Given the description of an element on the screen output the (x, y) to click on. 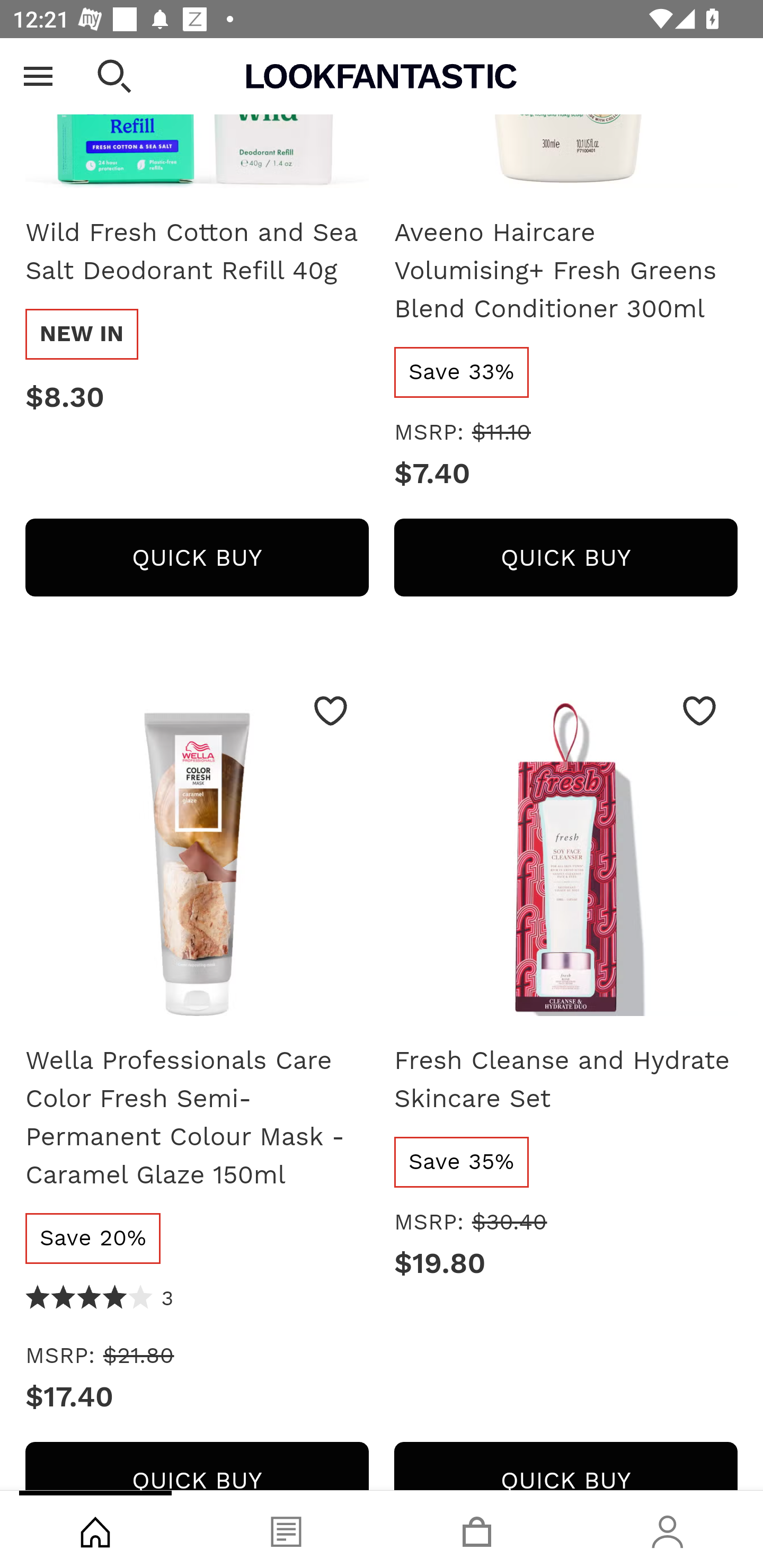
NEW IN, read more (81, 334)
Save 33%, read more (461, 372)
Price: $8.30 (196, 397)
Fresh Cleanse and Hydrate Skincare Set (565, 851)
Save to Wishlist (330, 710)
Save to Wishlist (698, 710)
Fresh Cleanse and Hydrate Skincare Set (565, 1080)
Save 35%, read more (461, 1162)
Save 20%, read more (93, 1238)
4.0 Stars 3 Reviews (99, 1298)
QUICK BUY FRESH CLEANSE AND HYDRATE SKINCARE SET (565, 1465)
Shop, tab, 1 of 4 (95, 1529)
Blog, tab, 2 of 4 (285, 1529)
Basket, tab, 3 of 4 (476, 1529)
Account, tab, 4 of 4 (667, 1529)
